Given the description of an element on the screen output the (x, y) to click on. 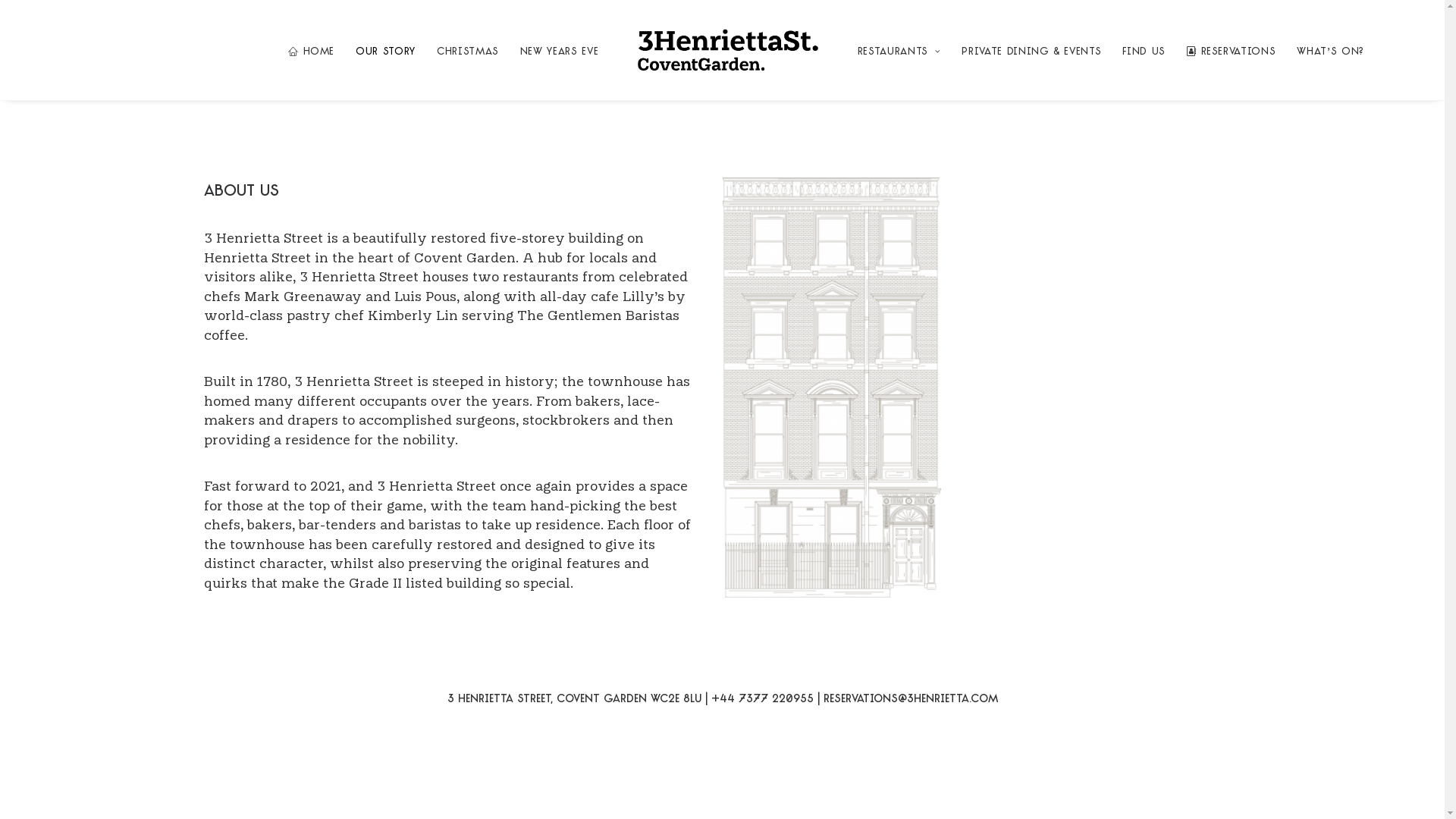
+44 7377 220955 Element type: text (762, 699)
PRIVATE DINING & EVENTS Element type: text (1030, 50)
reservations@3henrietta.com Element type: text (910, 699)
CHRISTMAS Element type: text (467, 50)
NEW YEARS EVE Element type: text (558, 50)
RESTAURANTS Element type: text (899, 50)
OUR STORY Element type: text (385, 50)
HOME Element type: text (311, 50)
RESERVATIONS Element type: text (1231, 50)
FIND US Element type: text (1143, 50)
